Given the description of an element on the screen output the (x, y) to click on. 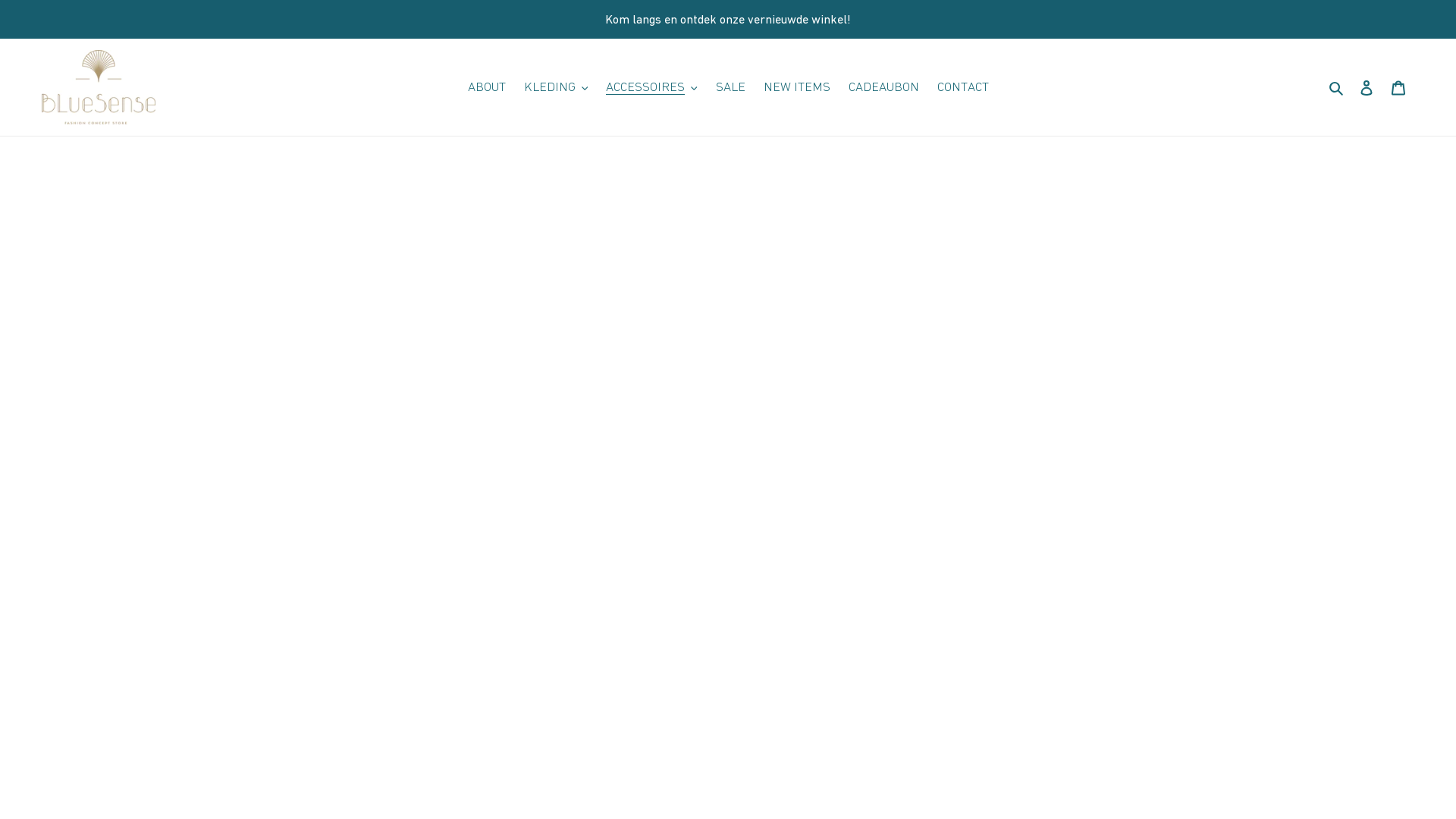
Winkelwagen Element type: text (1398, 86)
SALE Element type: text (730, 87)
CONTACT Element type: text (962, 87)
ACCESSOIRES Element type: text (651, 87)
NEW ITEMS Element type: text (796, 87)
CADEAUBON Element type: text (882, 87)
ABOUT Element type: text (485, 87)
Aanmelden Element type: text (1366, 86)
Zoeken Element type: text (1337, 86)
KLEDING Element type: text (555, 87)
